Given the description of an element on the screen output the (x, y) to click on. 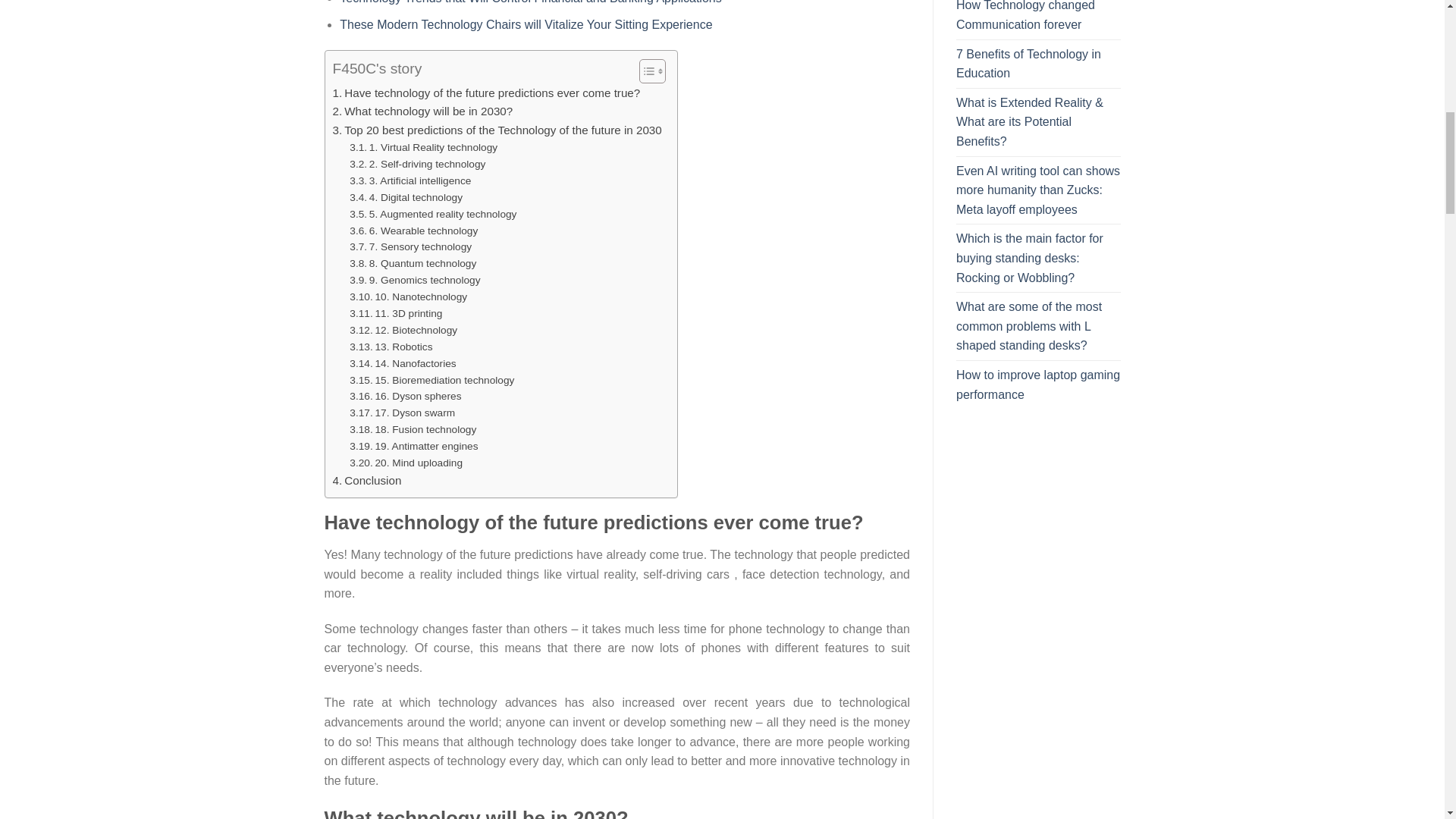
4. Digital technology (406, 197)
8. Quantum technology (412, 263)
18. Fusion technology (412, 429)
6. Wearable technology (413, 230)
2. Self-driving technology (416, 164)
1. Virtual Reality technology (423, 147)
17. Dyson swarm (401, 412)
8. Quantum technology (412, 263)
9. Genomics technology (414, 280)
